Given the description of an element on the screen output the (x, y) to click on. 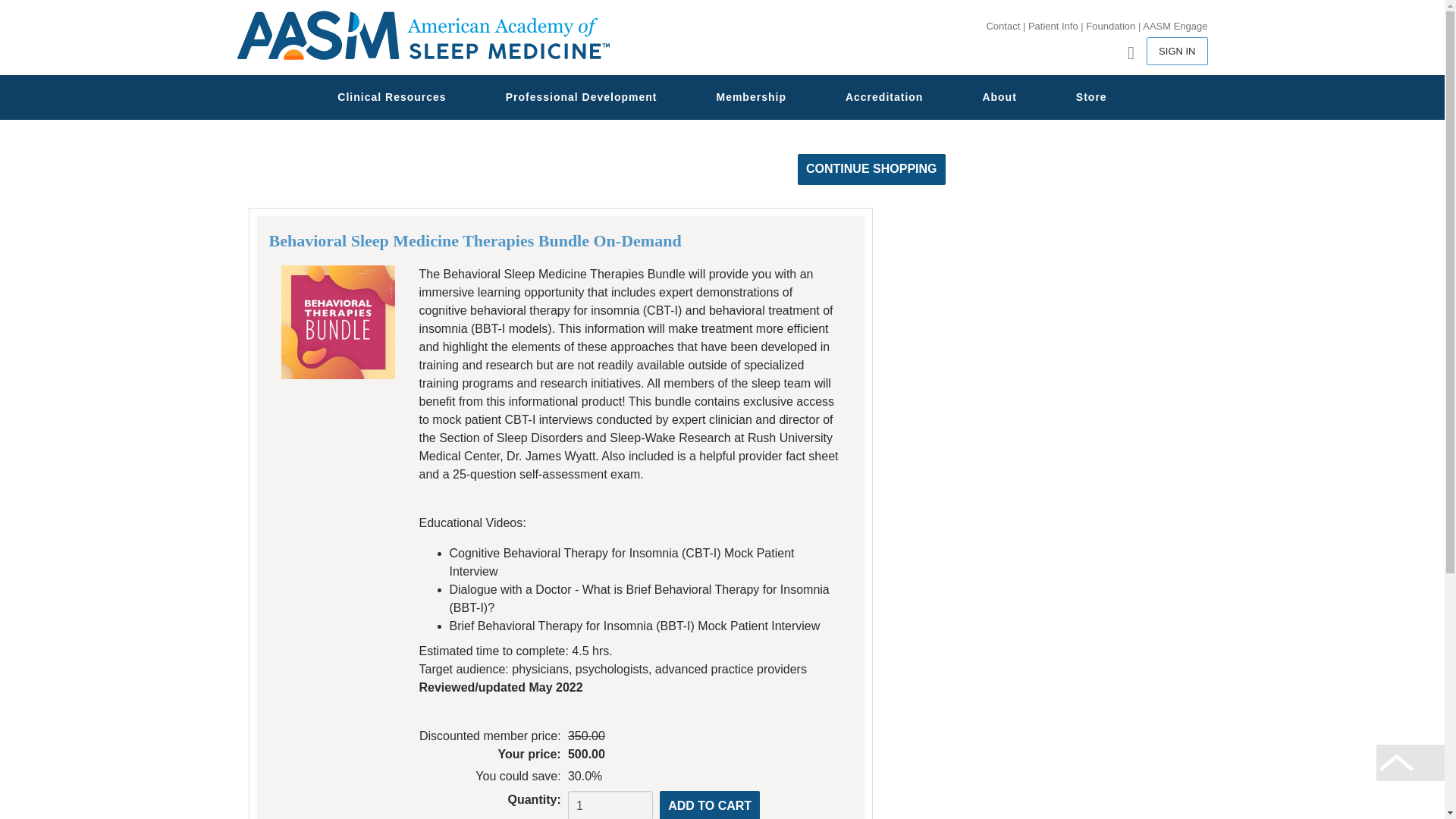
Continue Shopping (870, 169)
Patient Info (1052, 25)
Home (421, 36)
SIGN IN (1177, 50)
1 (609, 805)
Membership (750, 97)
Clinical Resources (391, 97)
Cart (1122, 51)
About (998, 97)
Continue Shopping (870, 169)
